Given the description of an element on the screen output the (x, y) to click on. 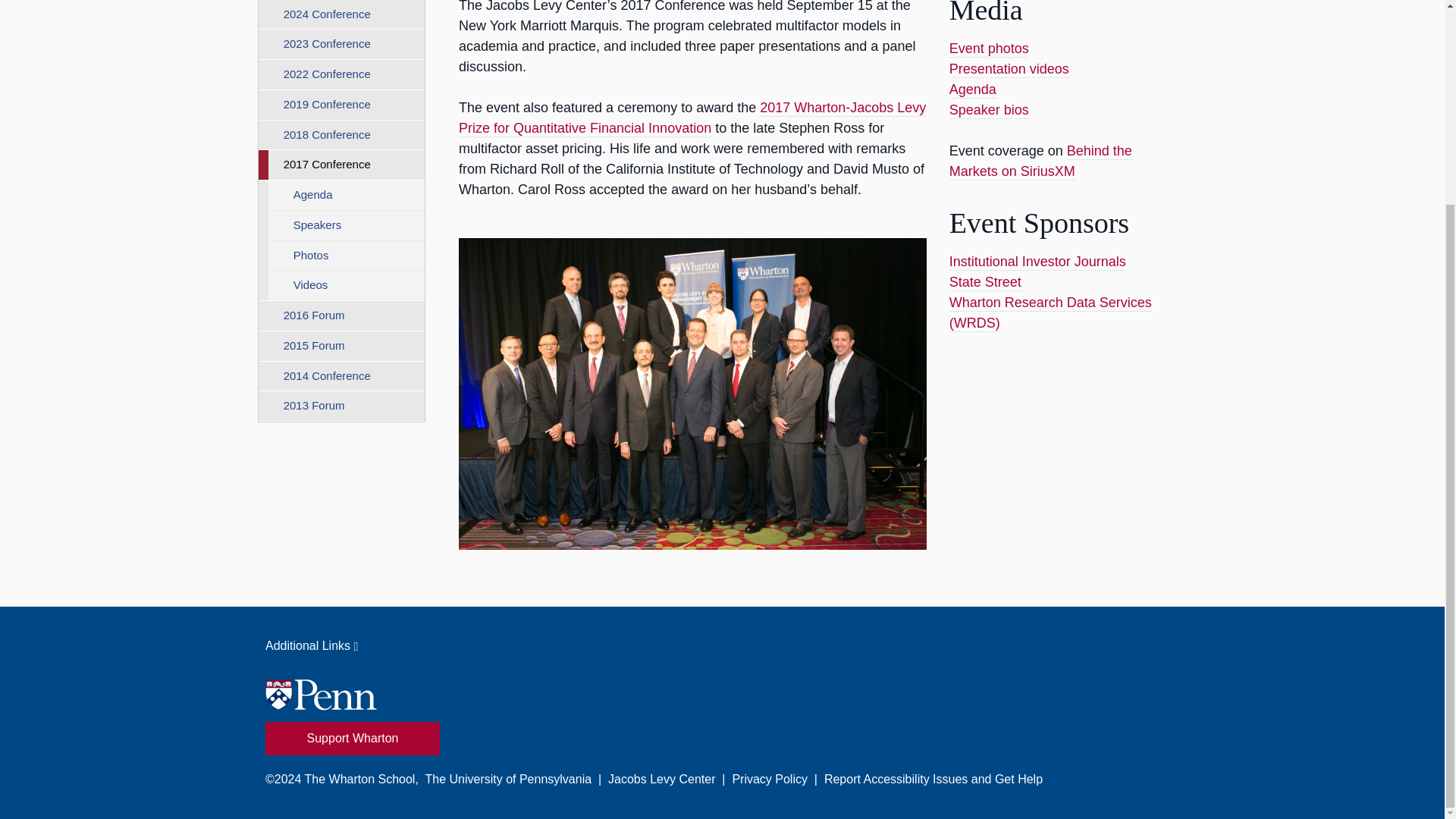
Additional Links (721, 646)
Jacobs Levy Center (661, 779)
Give to Wharton (351, 738)
